Given the description of an element on the screen output the (x, y) to click on. 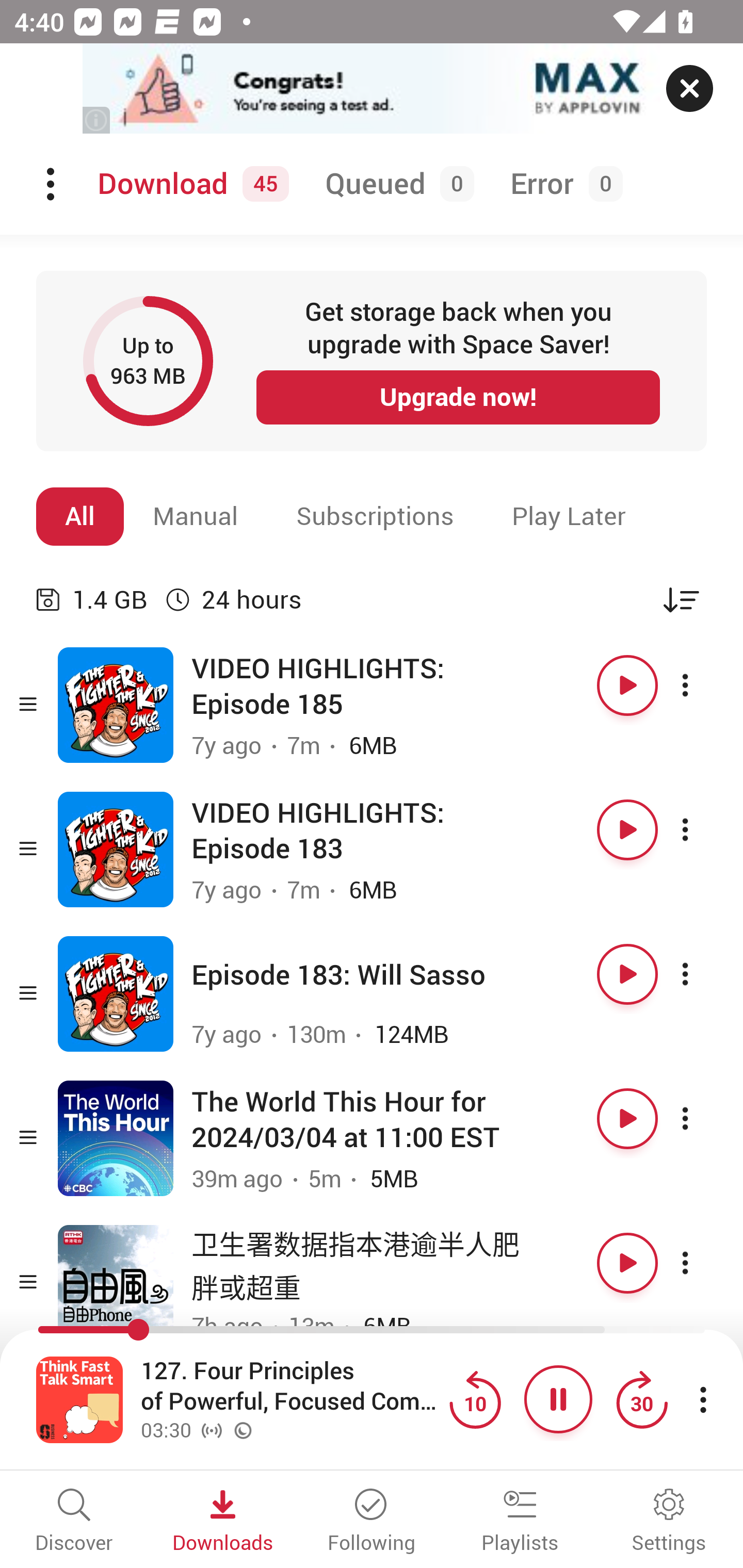
app-monetization (371, 88)
(i) (96, 119)
Menu (52, 184)
 Download 45 (189, 184)
 Queued 0 (396, 184)
 Error 0 (562, 184)
All (80, 516)
Manual (195, 516)
Subscriptions (374, 516)
Play Later (568, 516)
Change sort order (681, 599)
Play button (627, 685)
More options (703, 685)
Open series The Fighter & The Kid (115, 705)
Play button (627, 830)
More options (703, 830)
Open series The Fighter & The Kid (115, 849)
Play button (627, 974)
More options (703, 974)
Open series The Fighter & The Kid (115, 994)
Play button (627, 1118)
More options (703, 1118)
Open series The World This Hour (115, 1138)
Play button (627, 1263)
More options (703, 1263)
Open series 自由风自由PHONE (115, 1282)
Open fullscreen player (79, 1399)
More player controls (703, 1399)
Pause button (558, 1398)
Jump back (475, 1399)
Jump forward (641, 1399)
Discover (74, 1521)
Downloads (222, 1521)
Following (371, 1521)
Playlists (519, 1521)
Settings (668, 1521)
